Given the description of an element on the screen output the (x, y) to click on. 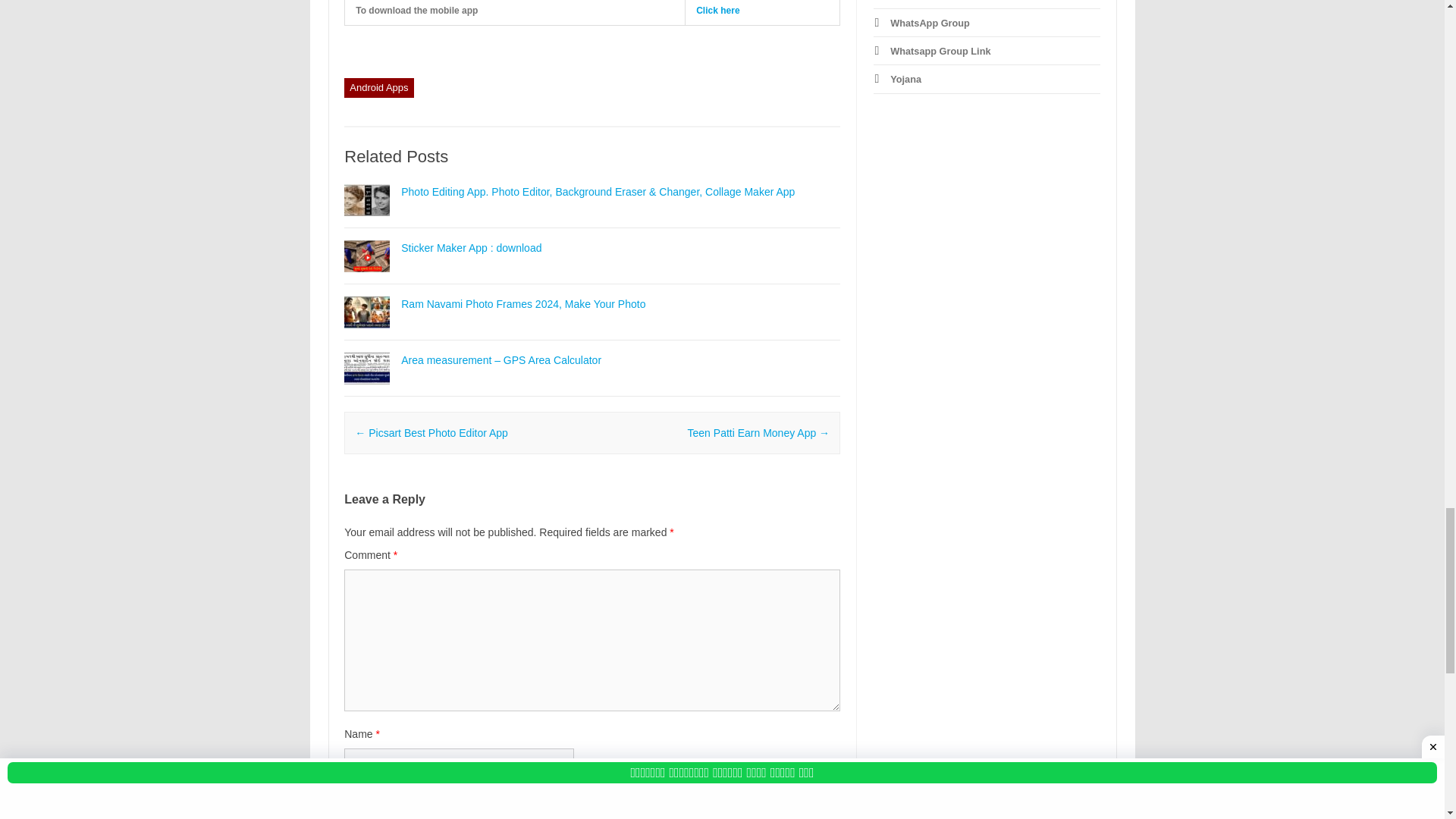
Sticker Maker App : download (366, 278)
Sticker Maker App : download (471, 247)
Sticker Maker App : download 5 (366, 255)
Click here (717, 9)
Android Apps (378, 87)
Ram Navami Photo Frames 2024, Make Your Photo (523, 304)
